Given the description of an element on the screen output the (x, y) to click on. 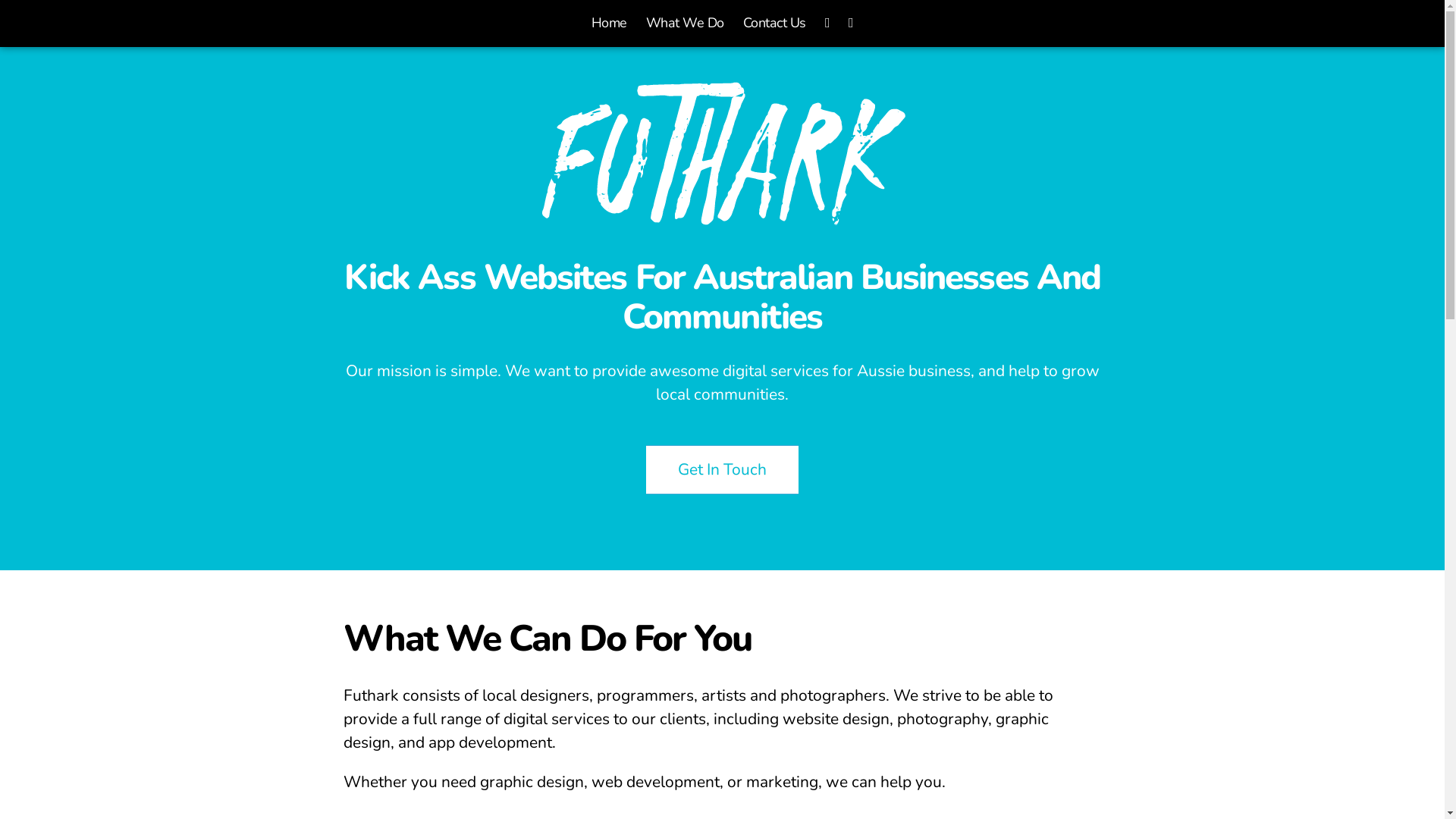
Home Element type: text (609, 23)
What We Do Element type: text (685, 23)
Get In Touch Element type: text (722, 469)
Contact Us Element type: text (774, 23)
